Given the description of an element on the screen output the (x, y) to click on. 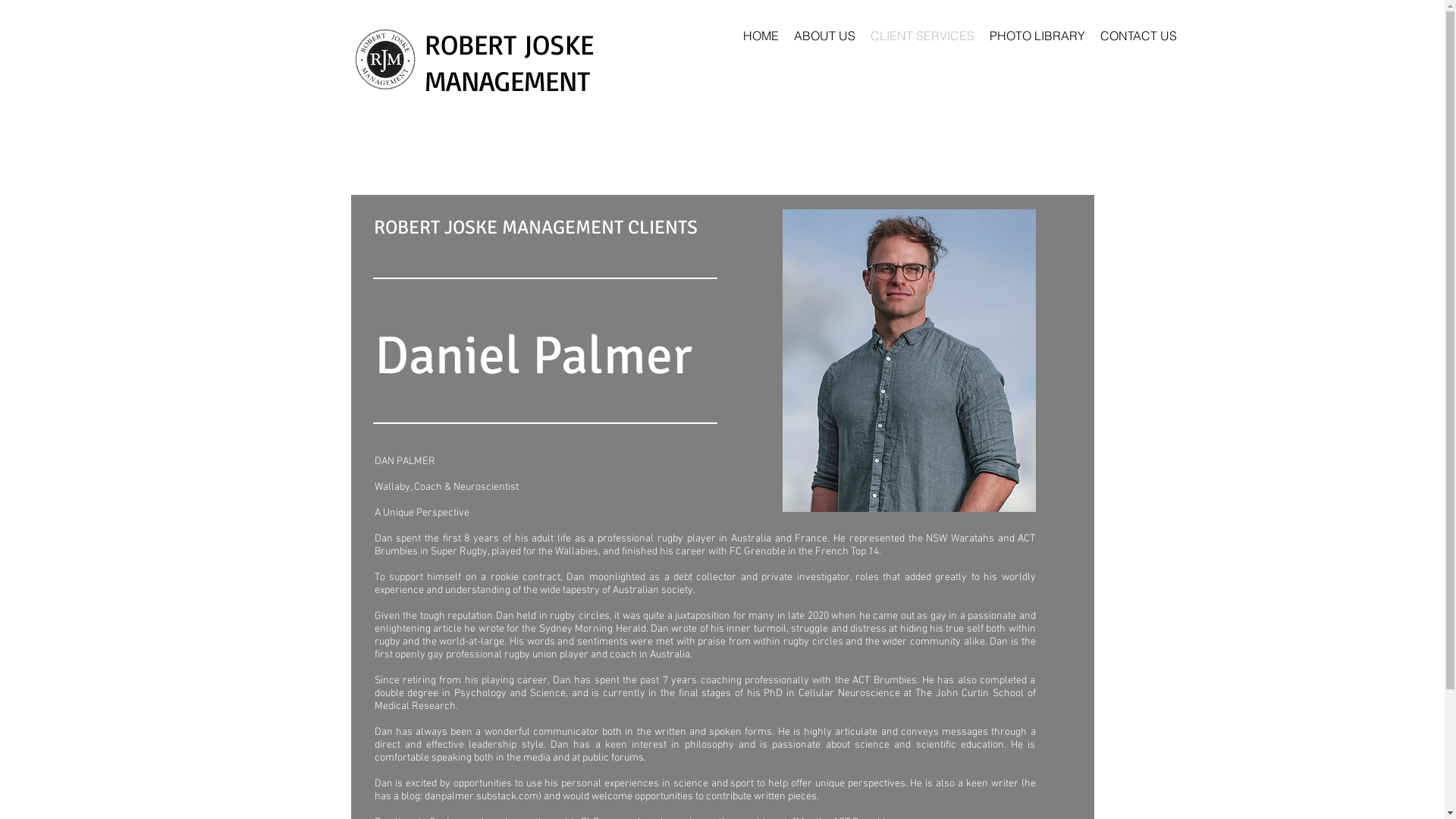
CLIENT SERVICES Element type: text (922, 35)
ABOUT US Element type: text (823, 35)
PHOTO LIBRARY Element type: text (1036, 35)
ROBERT JOSKE MANAGEMENT  Element type: text (511, 61)
CONTACT US Element type: text (1137, 35)
HOME Element type: text (760, 35)
